Given the description of an element on the screen output the (x, y) to click on. 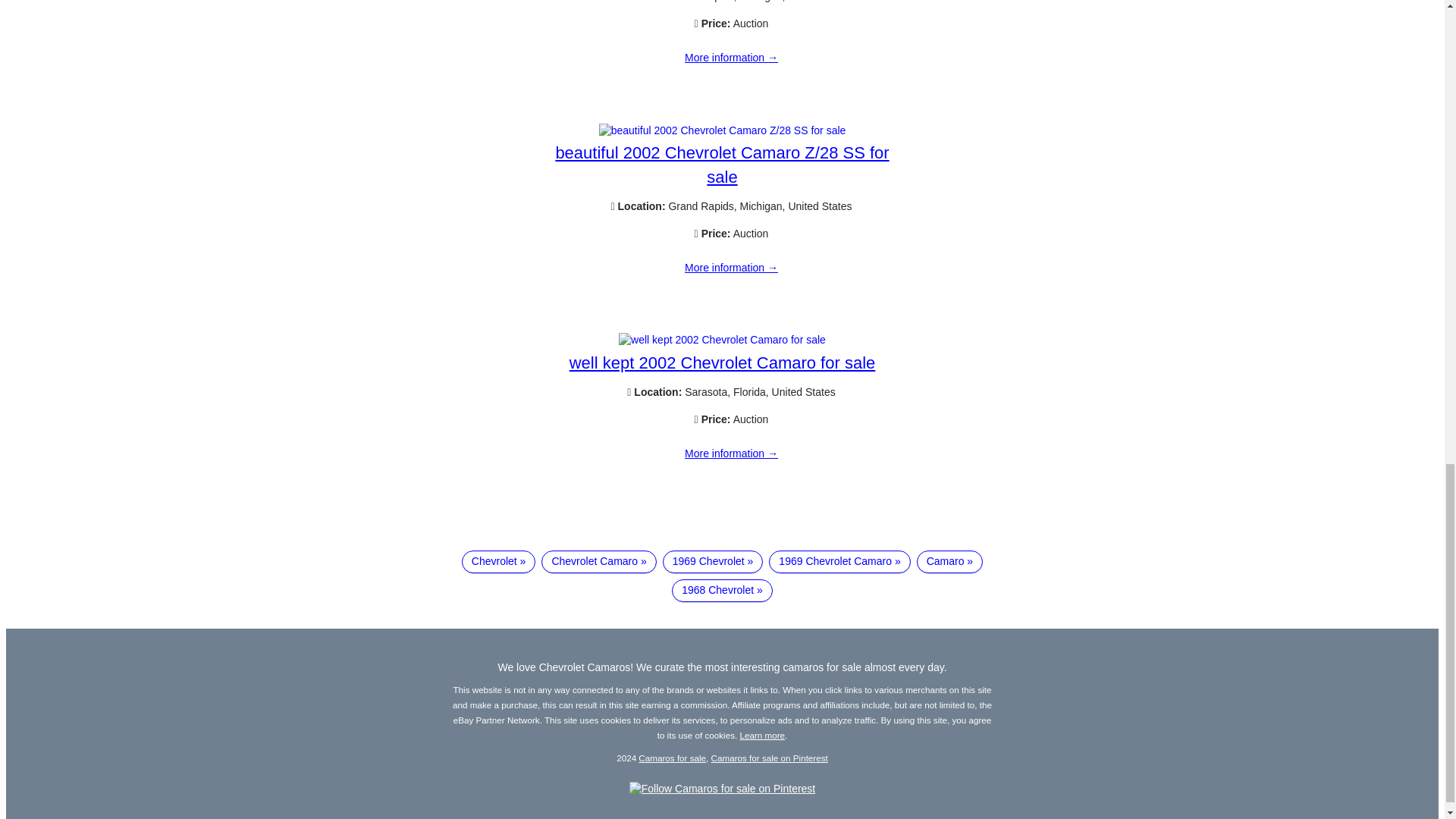
well kept 2002 Chevrolet Camaro for sale (731, 453)
Learn more (762, 735)
Camaros for sale (672, 757)
Camaros for sale on Pinterest (769, 757)
Camaro (949, 561)
well kept 2002 Chevrolet Camaro for sale (721, 339)
Chevrolet (498, 561)
Follow Camaros for sale on Pinterest (721, 788)
well kept 2002 Chevrolet Camaro for sale (722, 362)
1968 Chevrolet (722, 590)
